Given the description of an element on the screen output the (x, y) to click on. 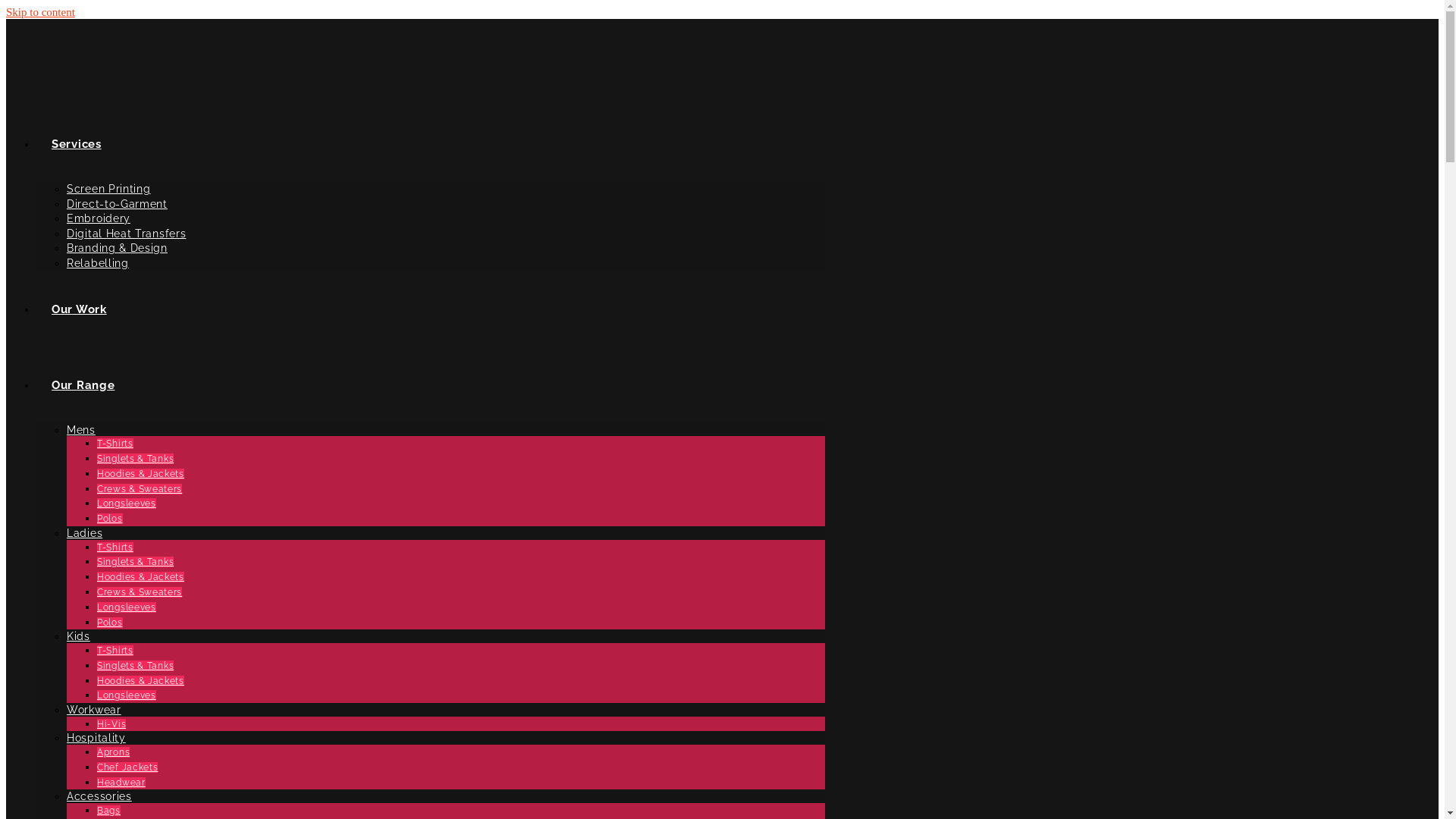
Mens Element type: text (80, 429)
Our Work Element type: text (79, 309)
Hi-Vis Element type: text (111, 723)
Kids Element type: text (78, 636)
Crews & Sweaters Element type: text (139, 488)
Services Element type: text (76, 143)
Accessories Element type: text (98, 796)
Singlets & Tanks Element type: text (135, 561)
Headwear Element type: text (121, 782)
Singlets & Tanks Element type: text (135, 458)
Hoodies & Jackets Element type: text (140, 473)
Longsleeves Element type: text (126, 695)
Polos Element type: text (109, 518)
Our Range Element type: text (82, 385)
Bags Element type: text (108, 810)
Ladies Element type: text (84, 533)
Crews & Sweaters Element type: text (139, 591)
Embroidery Element type: text (98, 218)
Direct-to-Garment Element type: text (116, 203)
Screen Printing Element type: text (108, 188)
T-Shirts Element type: text (115, 547)
Branding & Design Element type: text (116, 247)
Hospitality Element type: text (95, 737)
Polos Element type: text (109, 622)
Hoodies & Jackets Element type: text (140, 679)
Singlets & Tanks Element type: text (135, 665)
Aprons Element type: text (113, 751)
Relabelling Element type: text (97, 263)
Longsleeves Element type: text (126, 607)
Digital Heat Transfers Element type: text (125, 233)
T-Shirts Element type: text (115, 443)
Skip to content Element type: text (40, 12)
Chef Jackets Element type: text (127, 767)
T-Shirts Element type: text (115, 650)
Hoodies & Jackets Element type: text (140, 576)
Longsleeves Element type: text (126, 503)
Workwear Element type: text (93, 709)
